Given the description of an element on the screen output the (x, y) to click on. 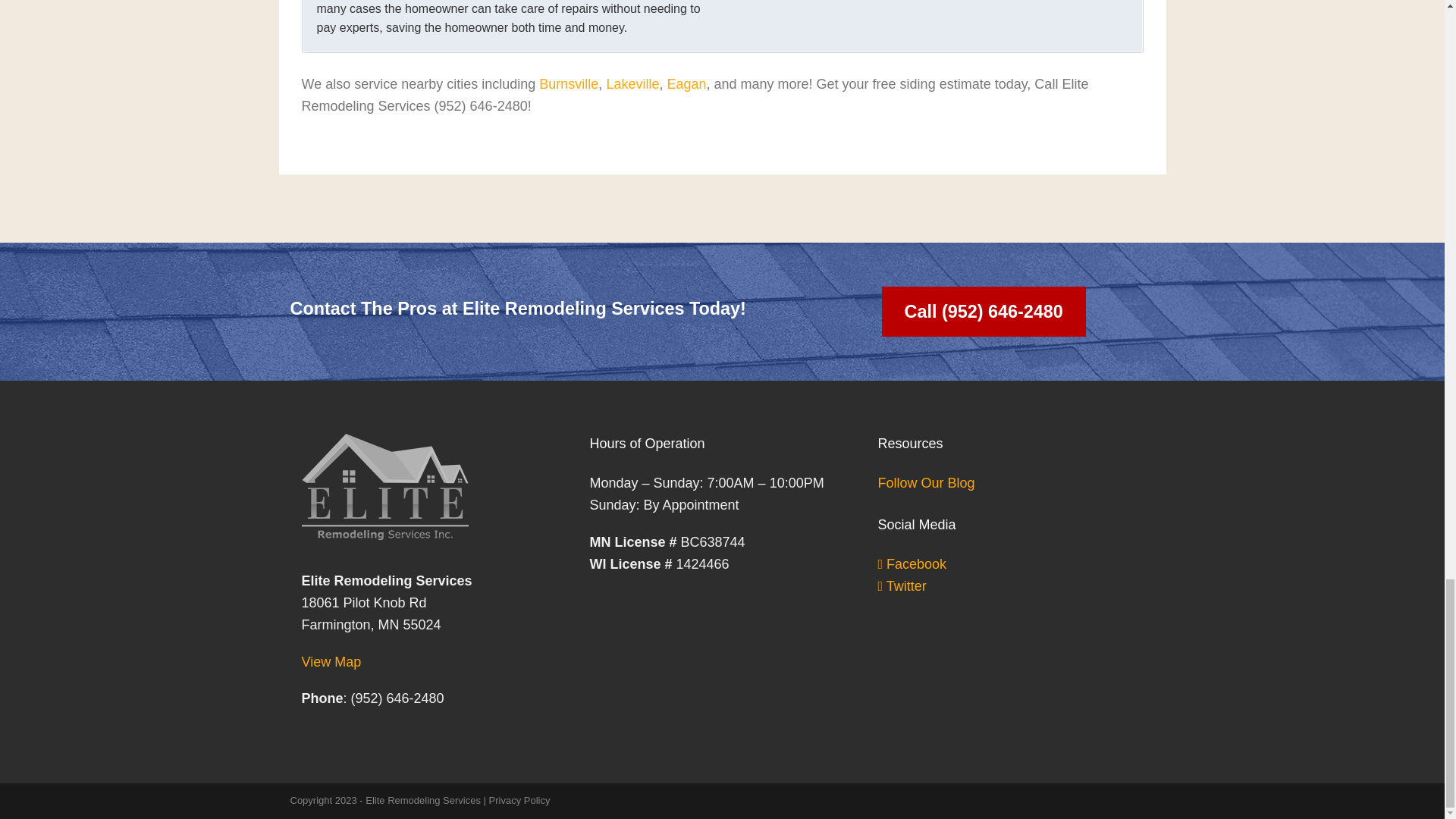
Elite Remodeling Services (422, 799)
View Map (331, 661)
Eagan (686, 83)
Facebook (911, 563)
Burnsville (568, 83)
Privacy Policy (519, 799)
Lakeville (632, 83)
Follow Our Blog (925, 482)
Twitter (901, 585)
